Given the description of an element on the screen output the (x, y) to click on. 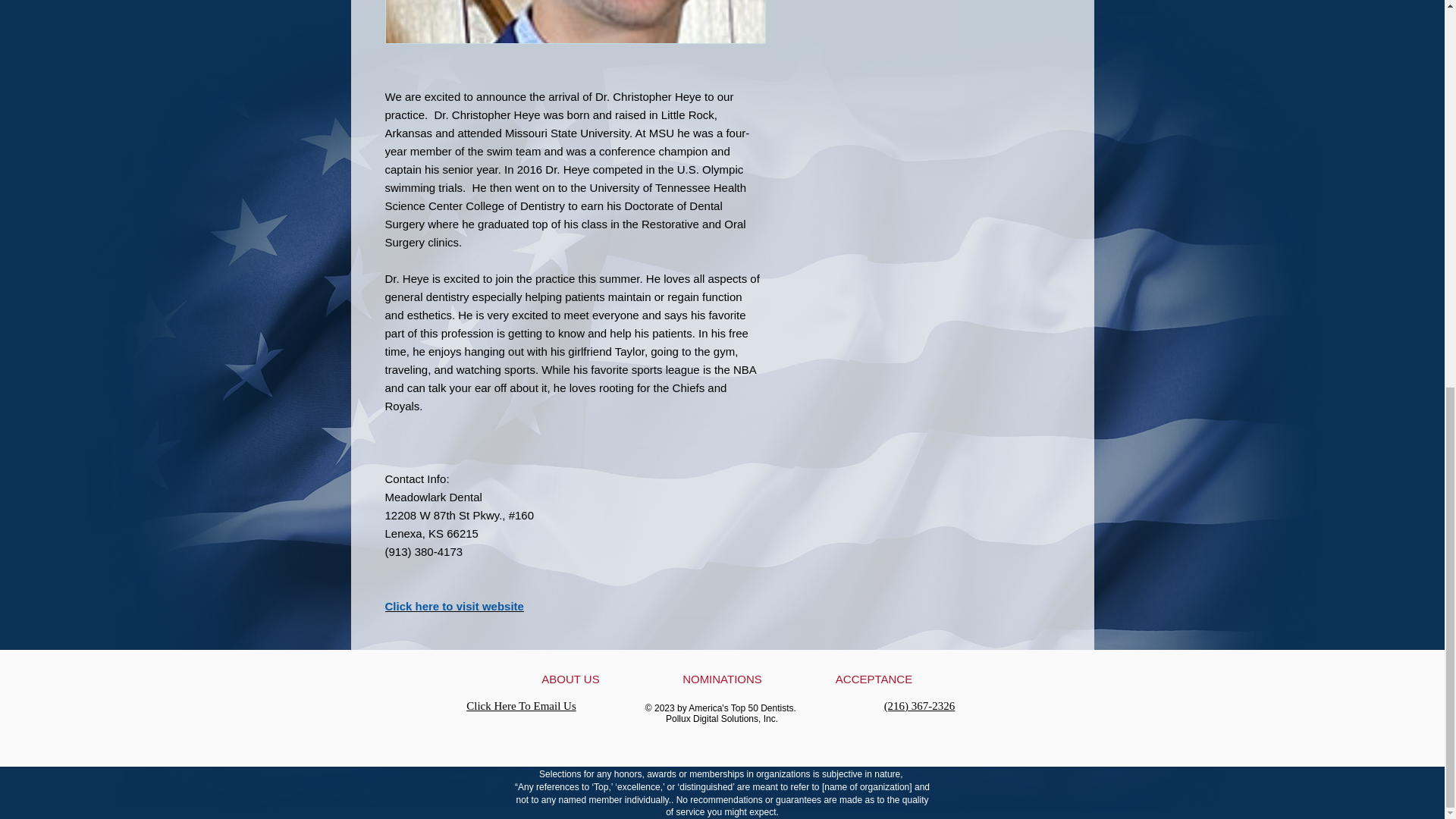
ACCEPTANCE (873, 678)
ABOUT US (570, 678)
Click Here To Email Us (520, 705)
Click here to visit website (454, 605)
NOMINATIONS (721, 678)
